Given the description of an element on the screen output the (x, y) to click on. 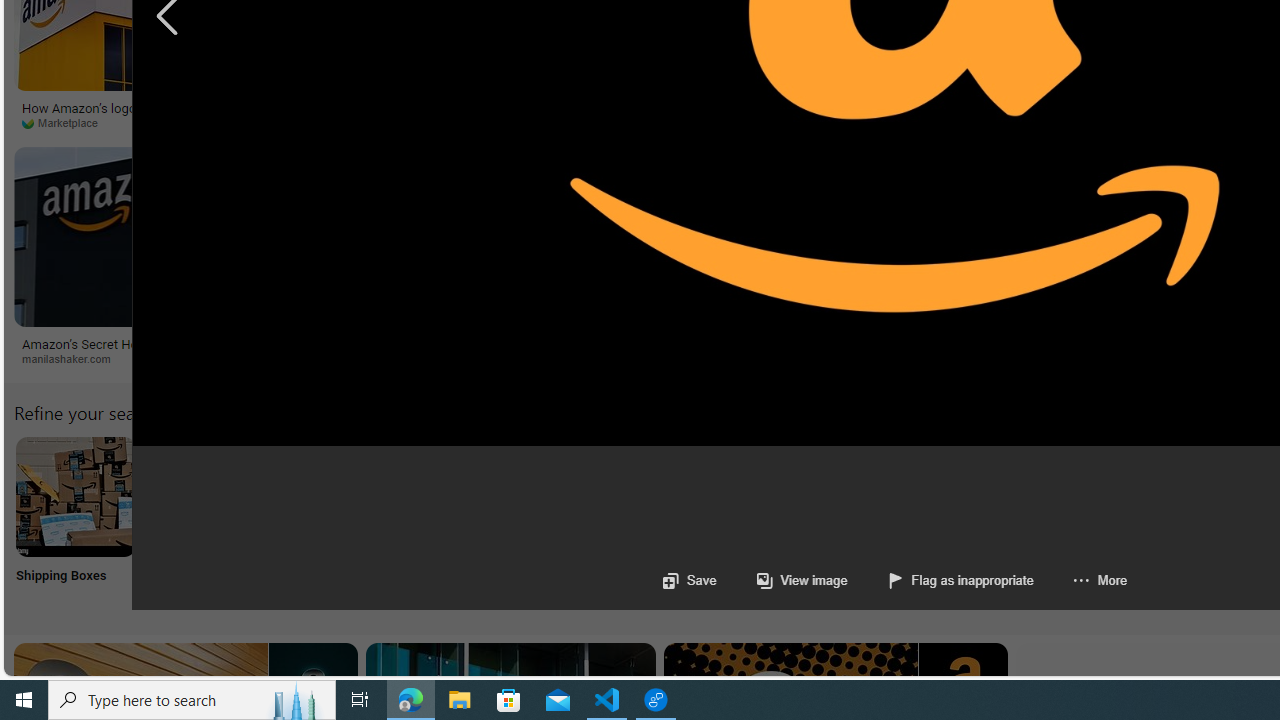
Shipping Boxes (74, 521)
Jobs Near Me (604, 521)
Amazon Clip Art Clip Art (339, 521)
Amazon Wish List Wish List (999, 521)
Image result for amazon (820, 236)
Save (688, 580)
Amazonprotothema.grSave (824, 260)
Amazon Online Shopping Search (207, 496)
Amazon Online Store (1131, 496)
Save (688, 580)
